Given the description of an element on the screen output the (x, y) to click on. 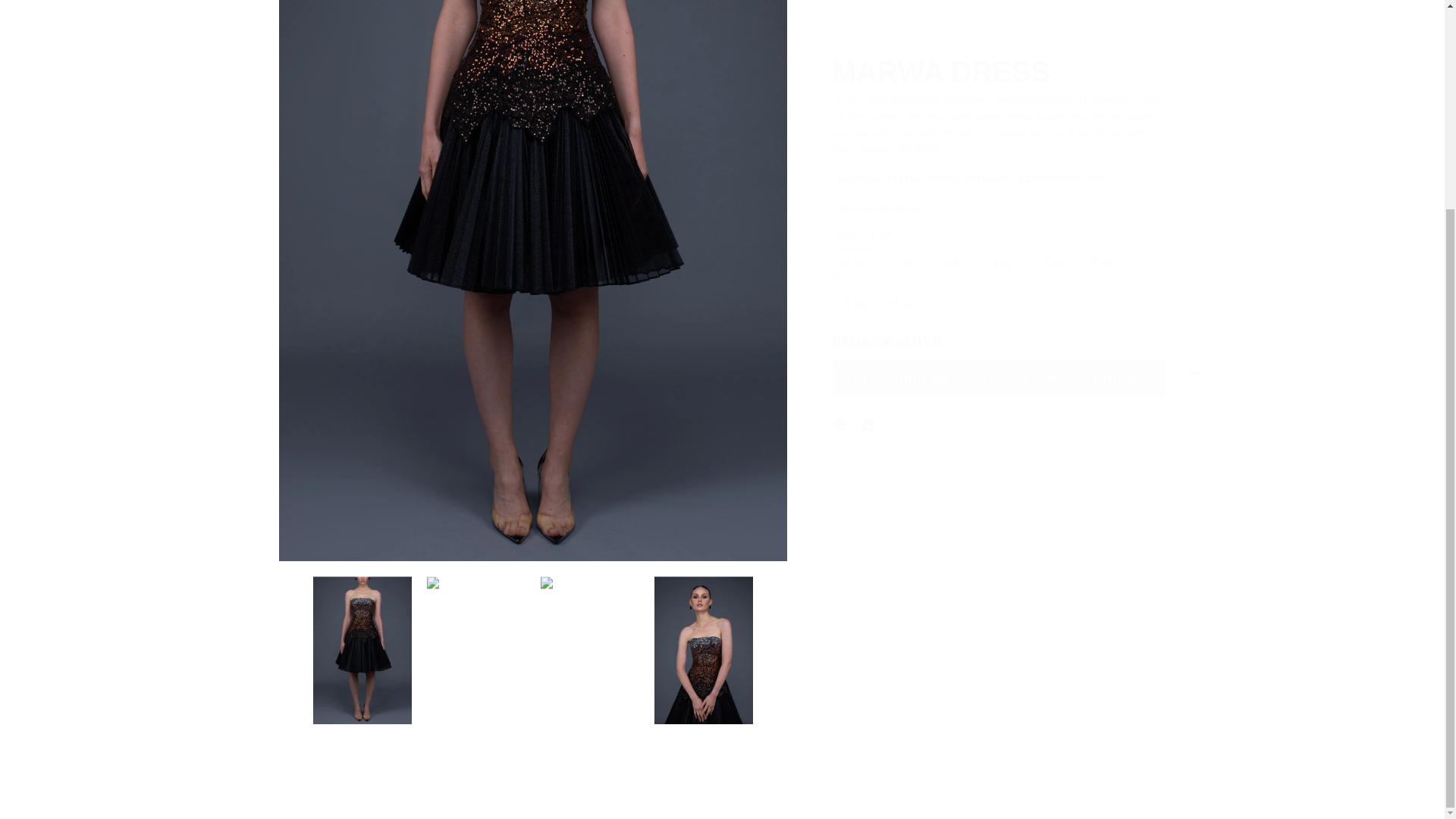
Add to wishlist (1195, 140)
Add to wishlist (1195, 140)
RM16,000.00MYR (999, 45)
Pinterest (999, 106)
Whatsapp (838, 186)
